Given the description of an element on the screen output the (x, y) to click on. 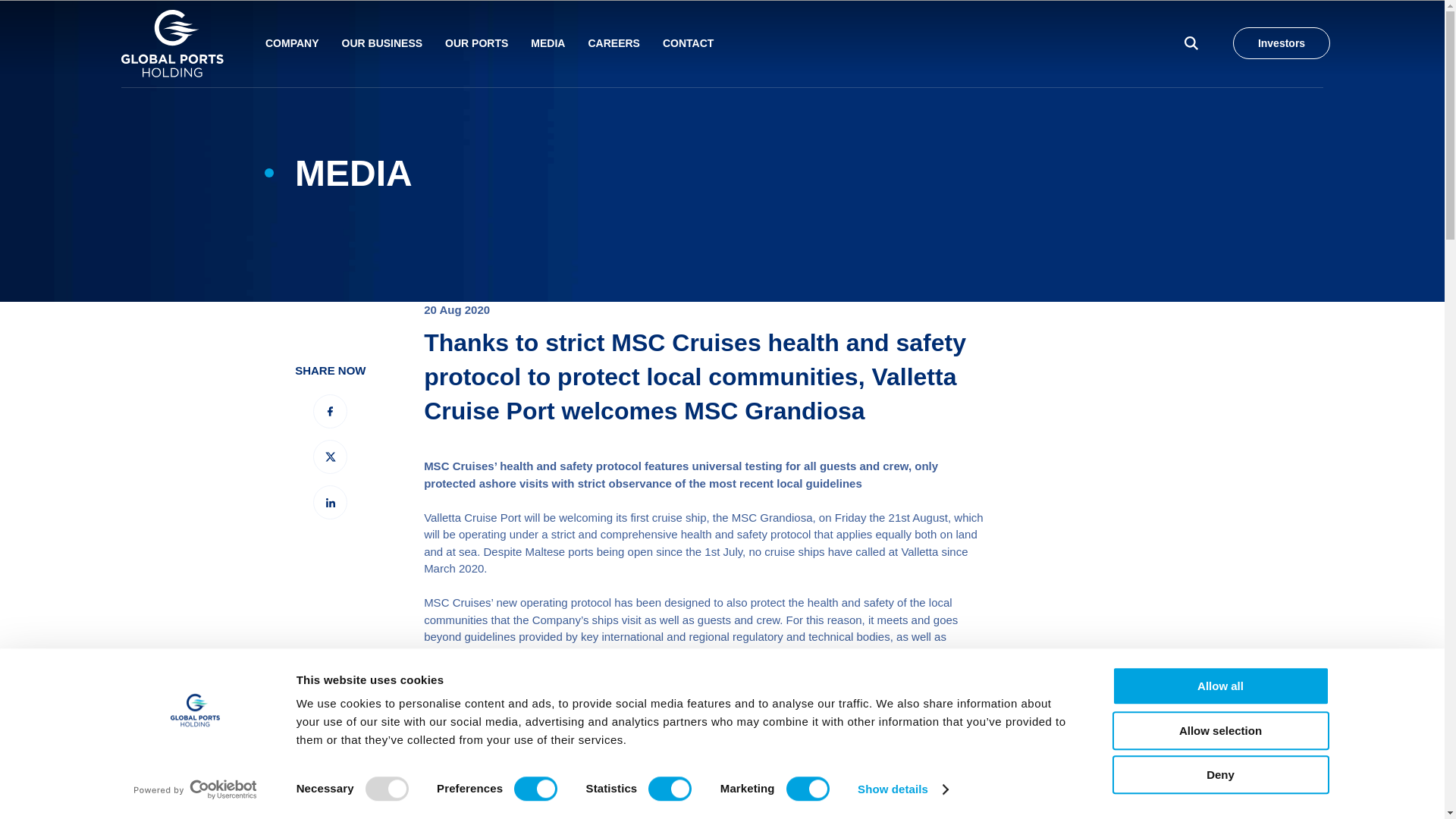
COMPANY (291, 43)
Show details (902, 789)
Deny (1219, 774)
Allow selection (1219, 730)
Allow all (1219, 685)
